Given the description of an element on the screen output the (x, y) to click on. 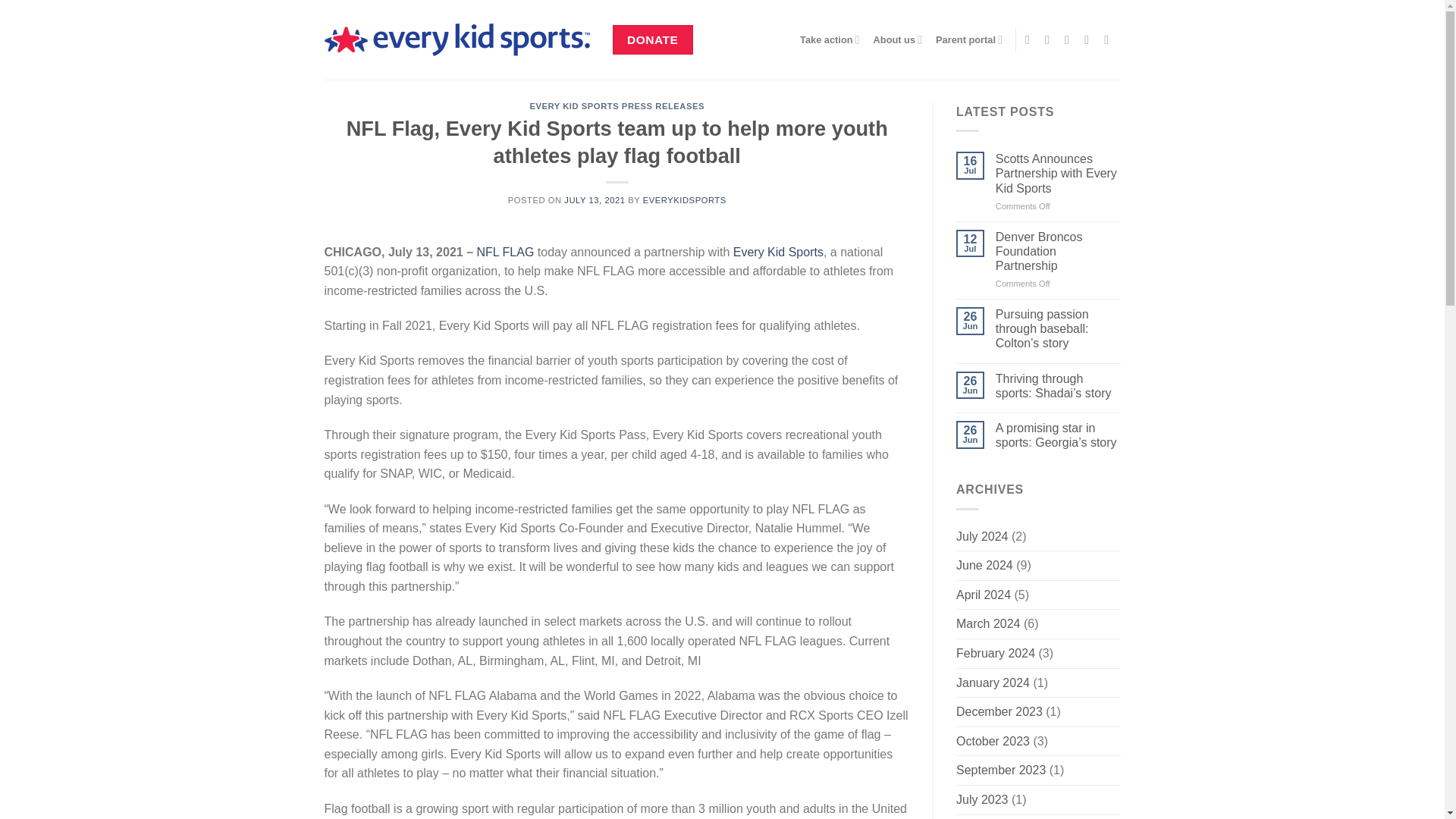
DONATE (652, 39)
Follow on Twitter (1070, 38)
Parent portal (969, 39)
Follow on Facebook (1030, 38)
EVERY KID SPORTS PRESS RELEASES (616, 105)
Scotts Announces Partnership with Every Kid Sports (1058, 173)
Denver Broncos Foundation Partnership (1058, 251)
Every Kid Sports (778, 251)
JULY 13, 2021 (594, 199)
Follow on LinkedIn (1090, 38)
Follow on Instagram (1051, 38)
NFL FLAG (505, 251)
Take action (829, 39)
Follow on YouTube (1109, 38)
Every Kid Sports - We pay. Kids play. (456, 39)
